Given the description of an element on the screen output the (x, y) to click on. 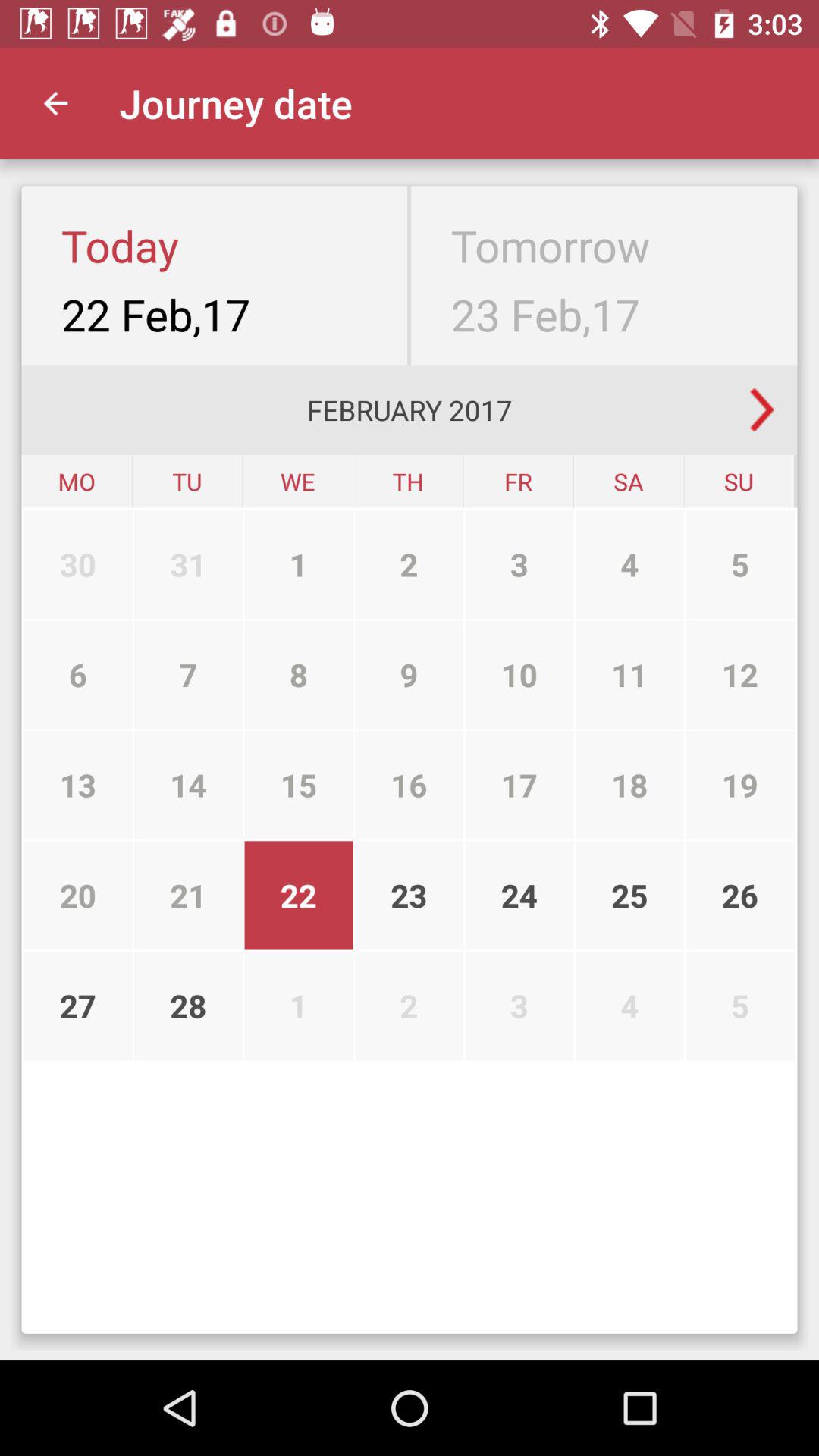
tap item to the left of 3 (408, 674)
